Given the description of an element on the screen output the (x, y) to click on. 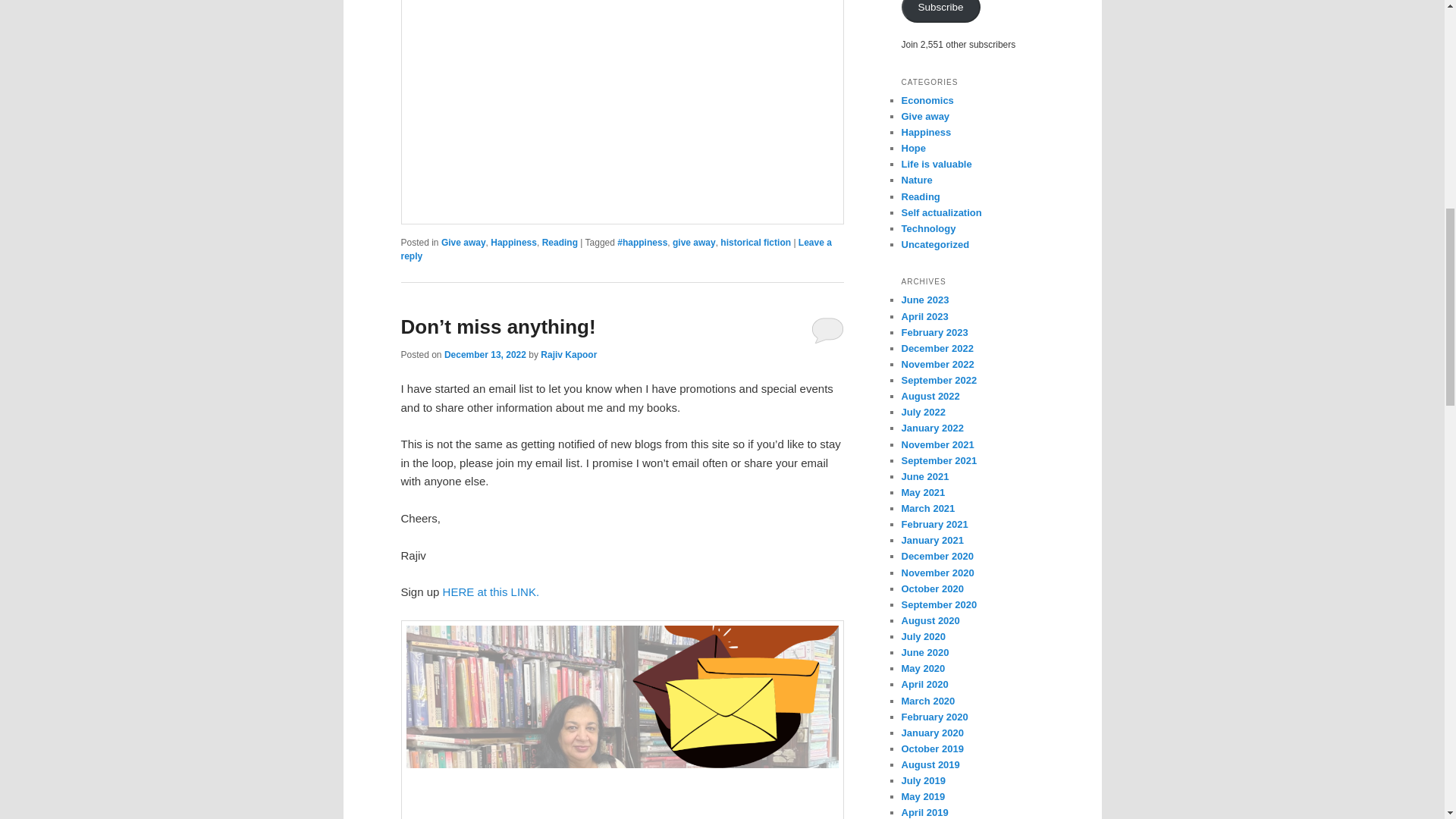
HERE at this LINK. (491, 591)
give away (694, 242)
Happiness (513, 242)
Reading (559, 242)
View all posts by Rajiv Kapoor (568, 354)
December 13, 2022 (484, 354)
8:30 pm (484, 354)
Leave a reply (615, 249)
Give away (463, 242)
historical fiction (755, 242)
